Given the description of an element on the screen output the (x, y) to click on. 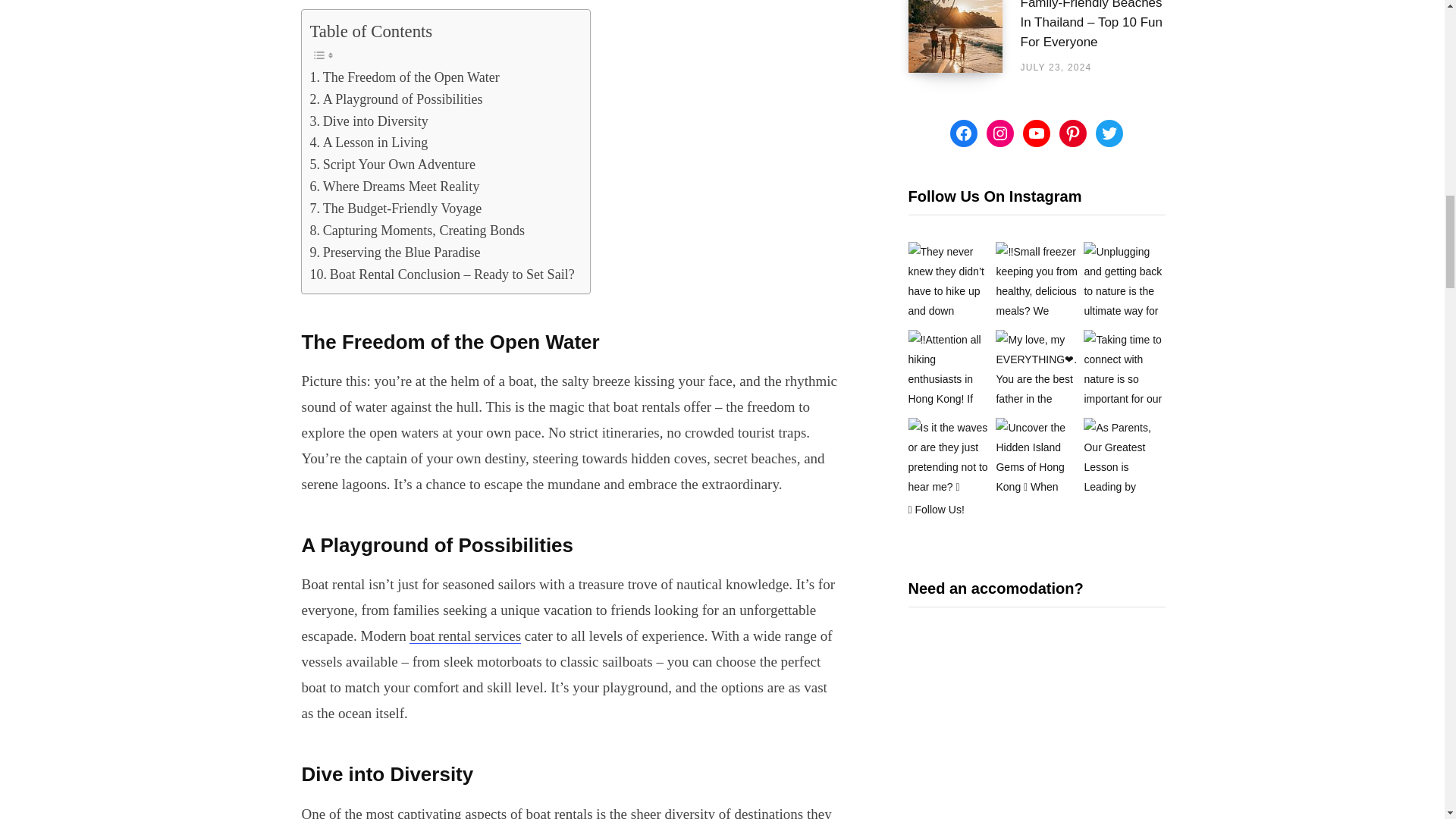
A Playground of Possibilities (394, 99)
Script Your Own Adventure (392, 164)
A Lesson in Living (368, 142)
Dive into Diversity (368, 121)
The Freedom of the Open Water (403, 77)
